Given the description of an element on the screen output the (x, y) to click on. 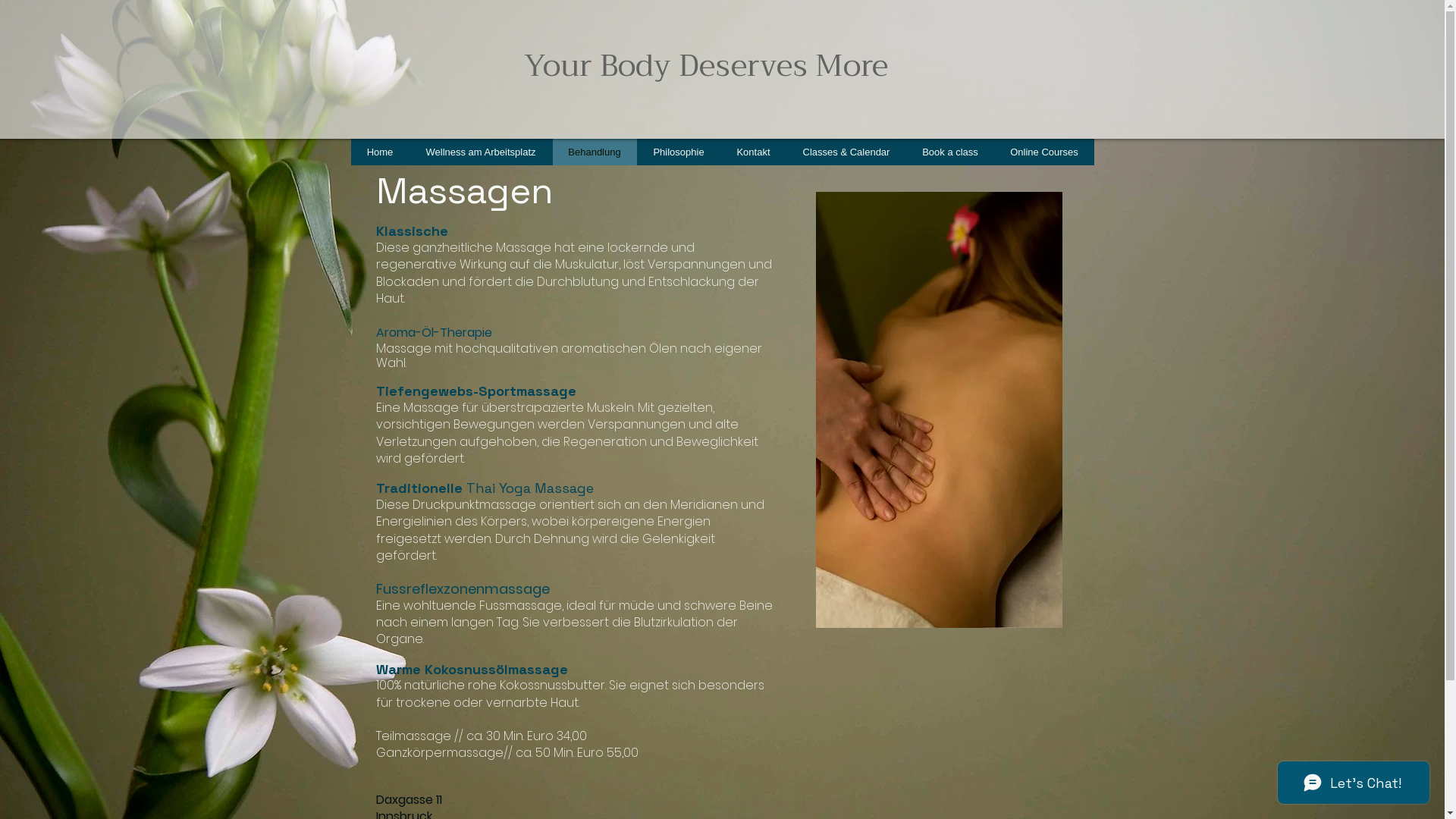
Kontakt Element type: text (753, 151)
Online Courses Element type: text (1043, 151)
Behandlung Element type: text (594, 151)
Book a class Element type: text (949, 151)
Philosophie Element type: text (678, 151)
Home Element type: text (379, 151)
Wellness am Arbeitsplatz Element type: text (480, 151)
Classes & Calendar Element type: text (845, 151)
